Given the description of an element on the screen output the (x, y) to click on. 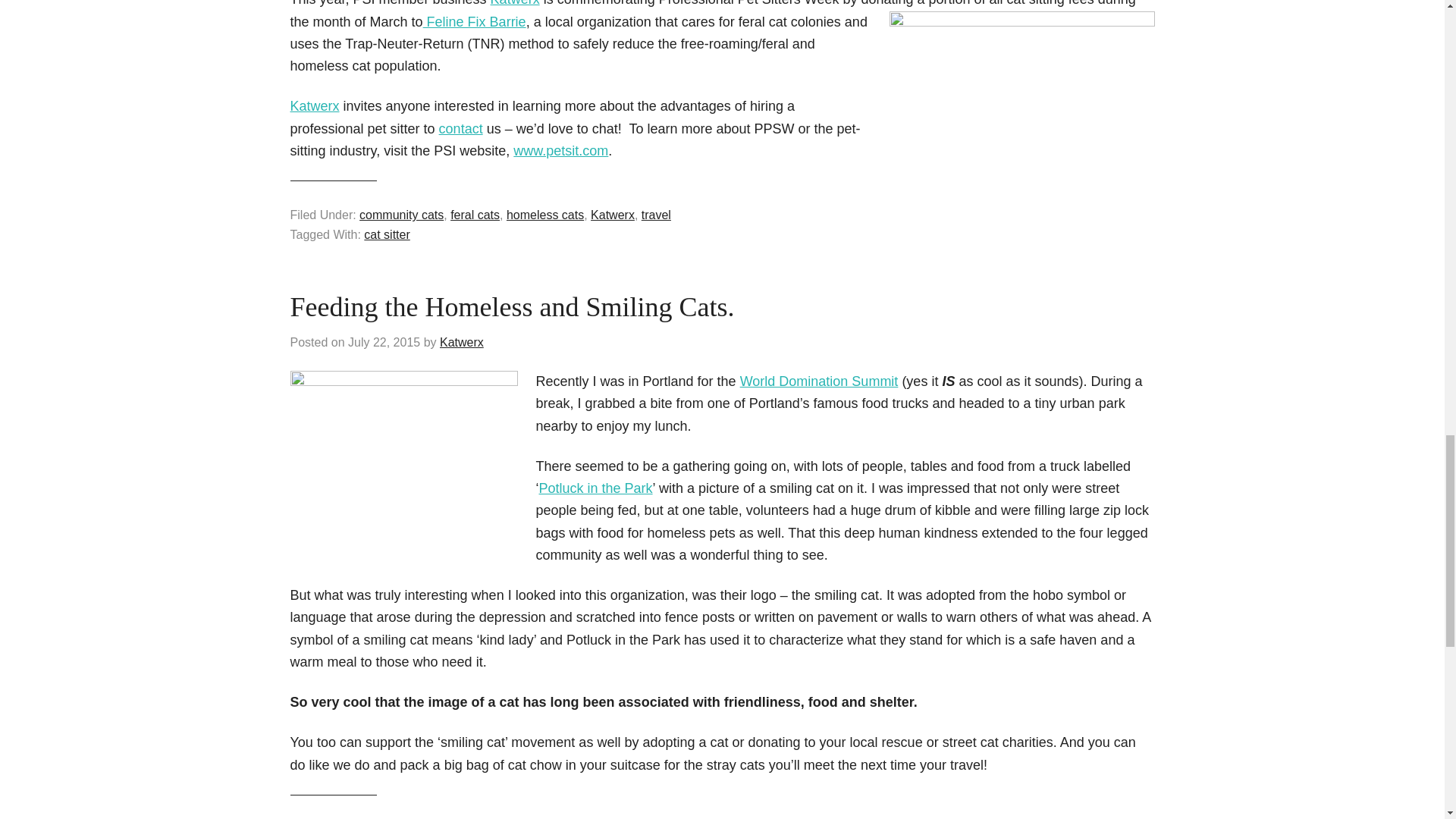
Katwerx (515, 3)
Katwerx (314, 105)
cat sitter (386, 234)
Feline Fix Barrie (474, 21)
contact (461, 128)
community cats (401, 214)
homeless cats (544, 214)
feral cats (474, 214)
Katwerx (461, 341)
www.petsit.com (560, 150)
Feeding the Homeless and Smiling Cats. (511, 306)
travel (656, 214)
Katwerx (612, 214)
